Given the description of an element on the screen output the (x, y) to click on. 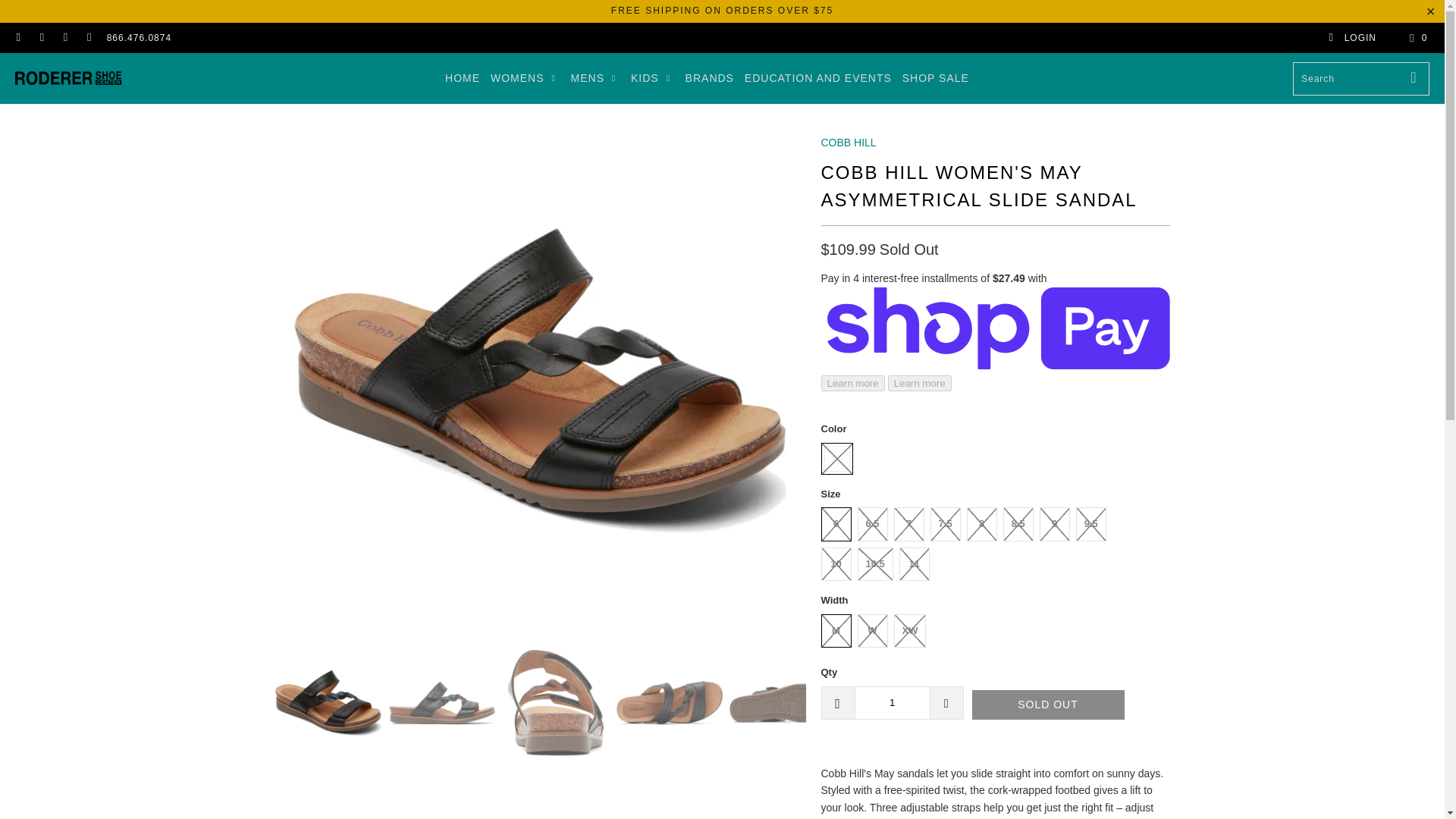
Roderer Shoe Center (67, 78)
Roderer Shoe Center on Facebook (17, 37)
Email Roderer Shoe Center (87, 37)
My Account  (1351, 37)
COBB HILL (848, 142)
Roderer Shoe Center on Instagram (41, 37)
1 (891, 702)
Roderer Shoe Center on LinkedIn (64, 37)
